Given the description of an element on the screen output the (x, y) to click on. 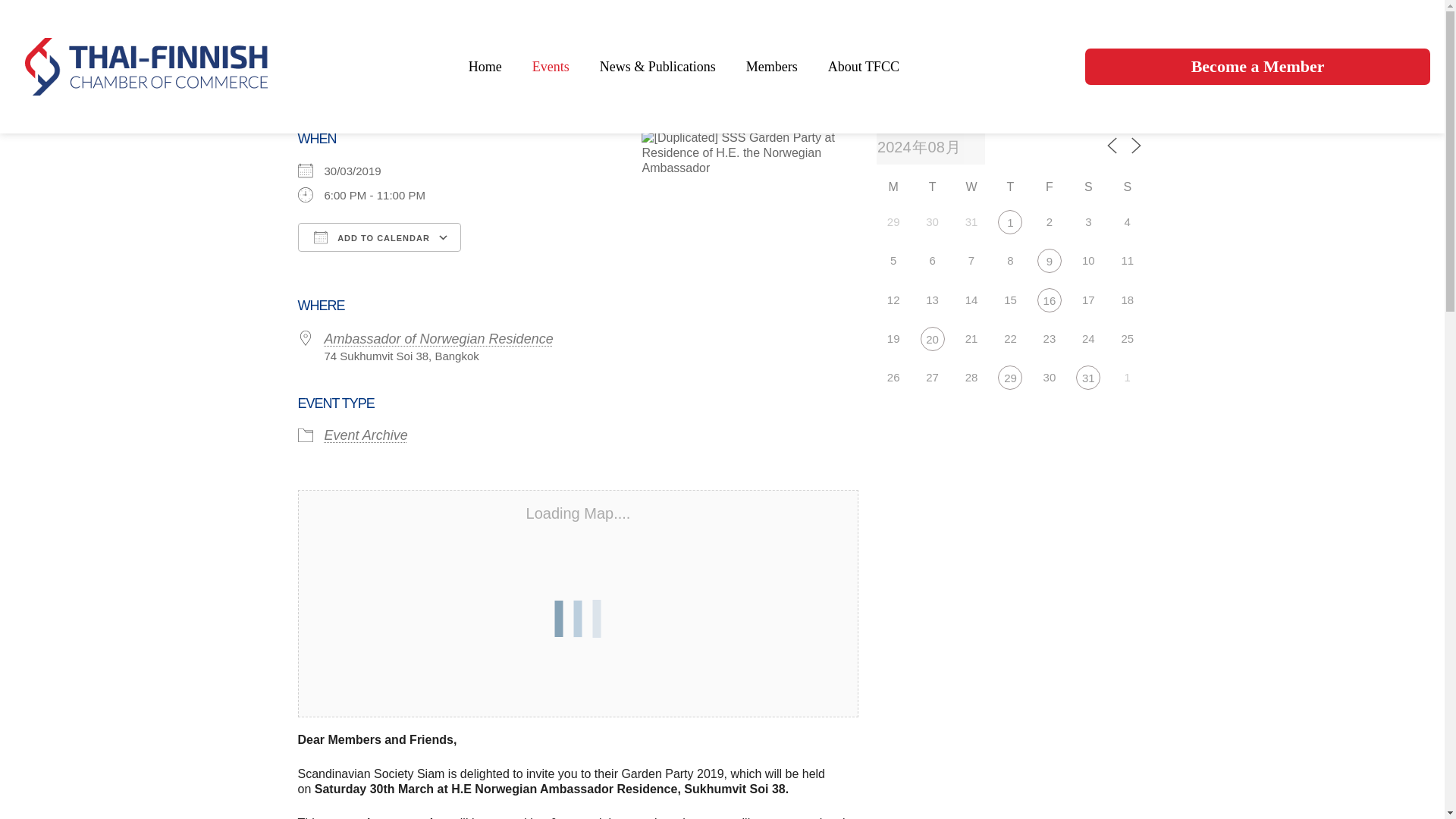
About TFCC (863, 66)
Events (550, 66)
Catch of Canada (932, 338)
The Social: Explorer 2 (1048, 300)
2024-08 (930, 147)
Home (484, 66)
Members (771, 66)
